Given the description of an element on the screen output the (x, y) to click on. 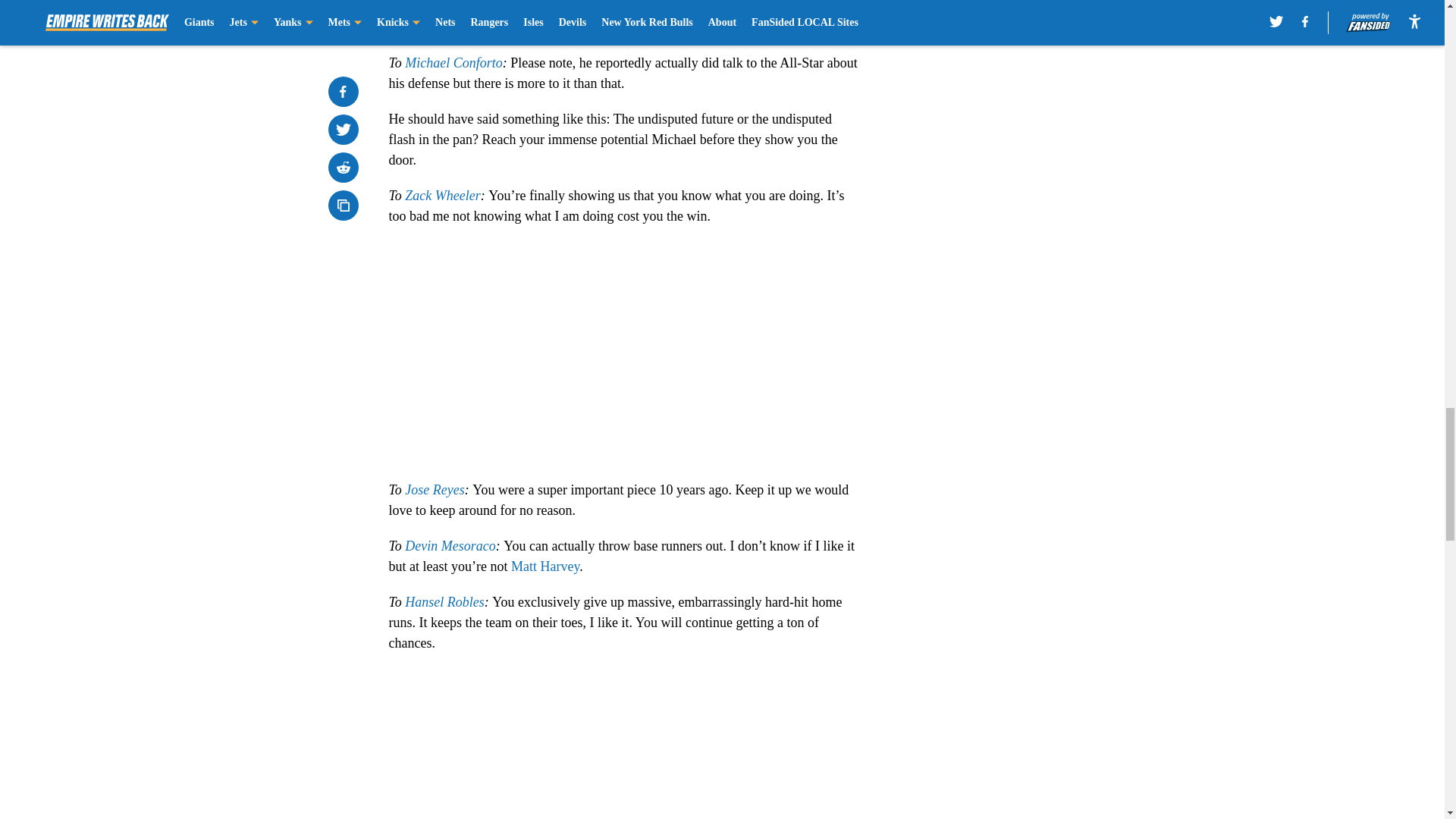
Devin Mesoraco (449, 545)
Zack Wheeler (442, 195)
Michael Conforto (453, 62)
Matt Harvey (545, 566)
Jose Reyes (434, 489)
